Given the description of an element on the screen output the (x, y) to click on. 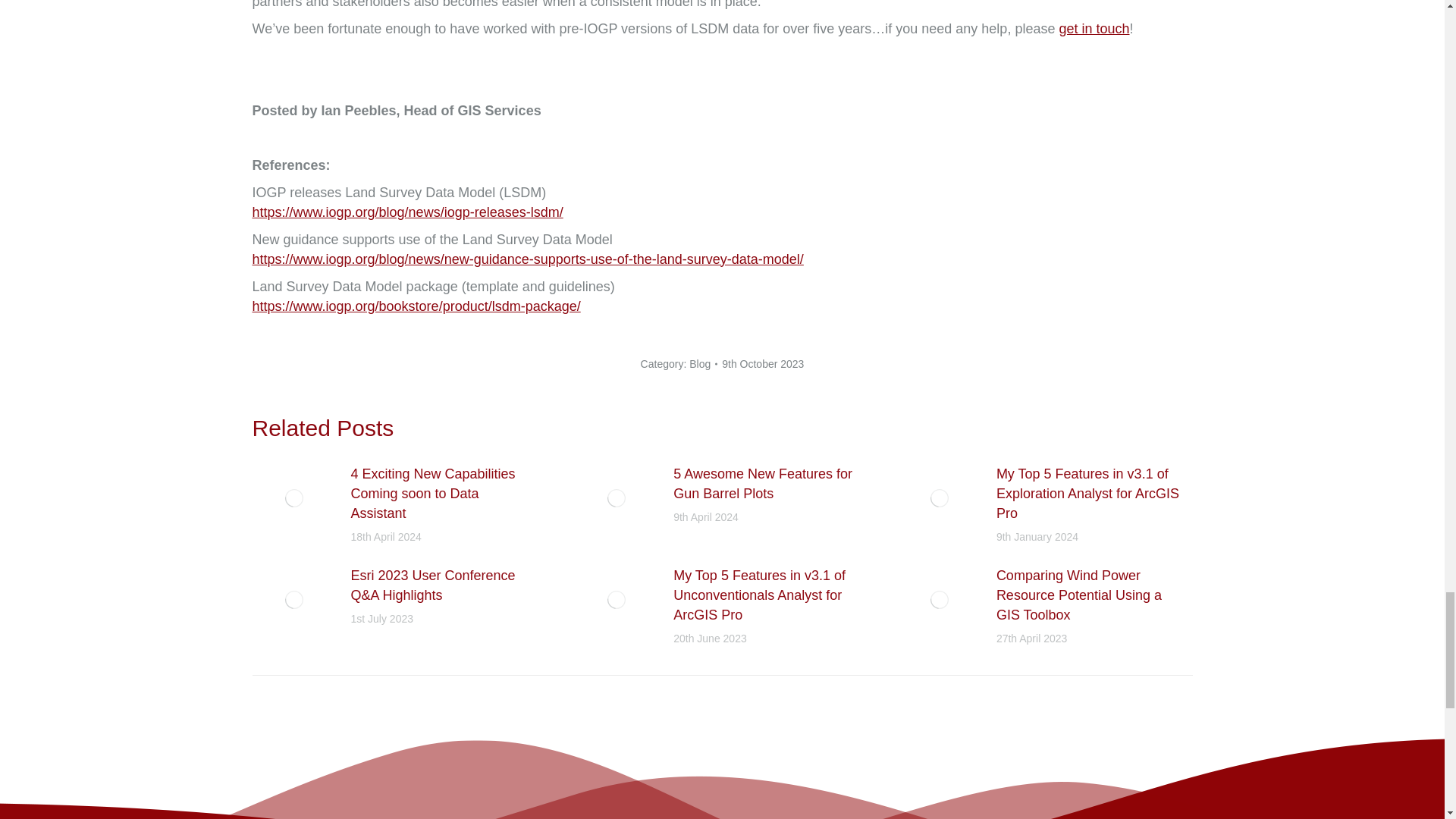
10:32 am (762, 363)
